Given the description of an element on the screen output the (x, y) to click on. 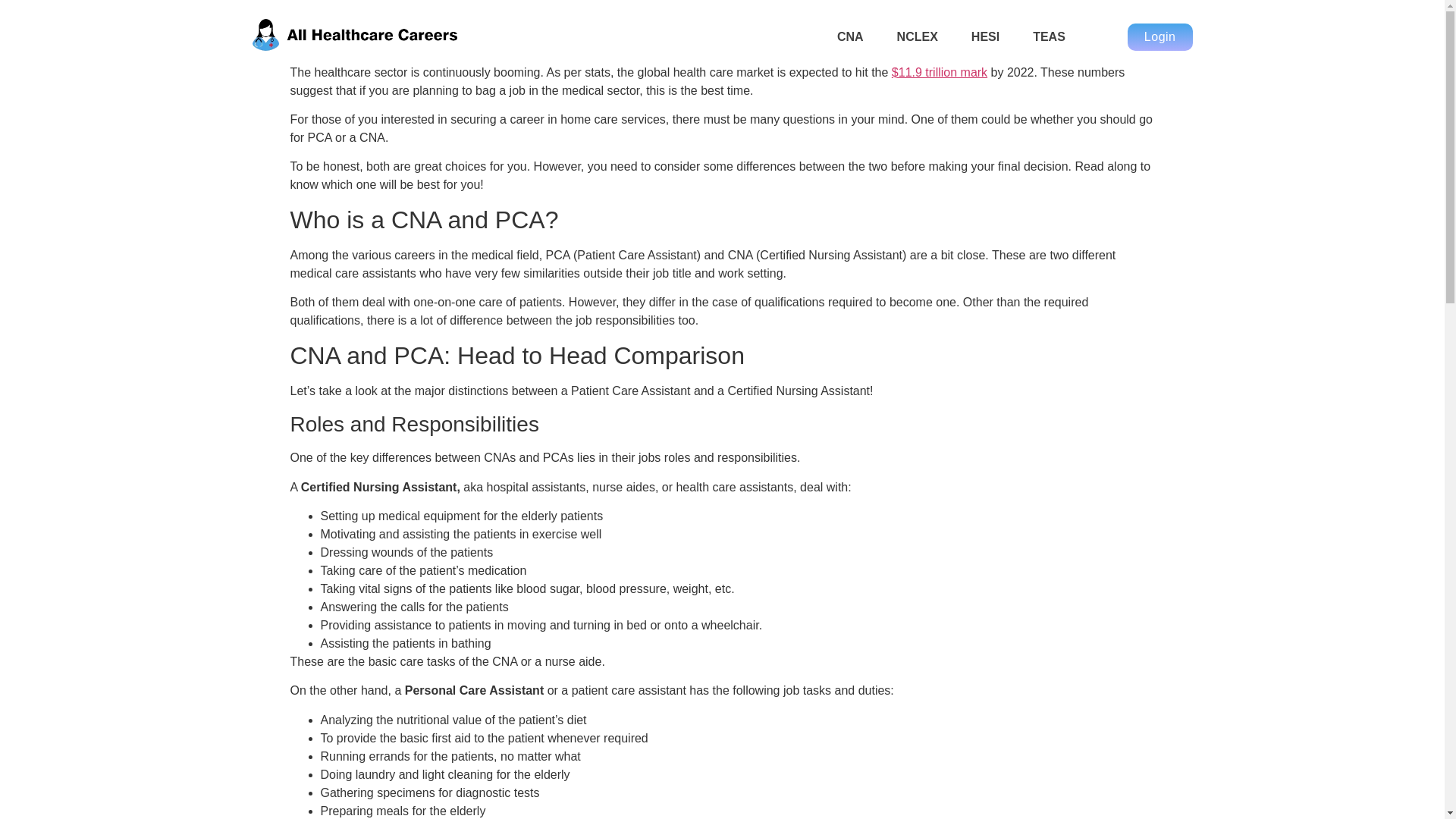
CNA (849, 36)
HESI (985, 36)
TEAS (1048, 36)
NCLEX (917, 36)
